Given the description of an element on the screen output the (x, y) to click on. 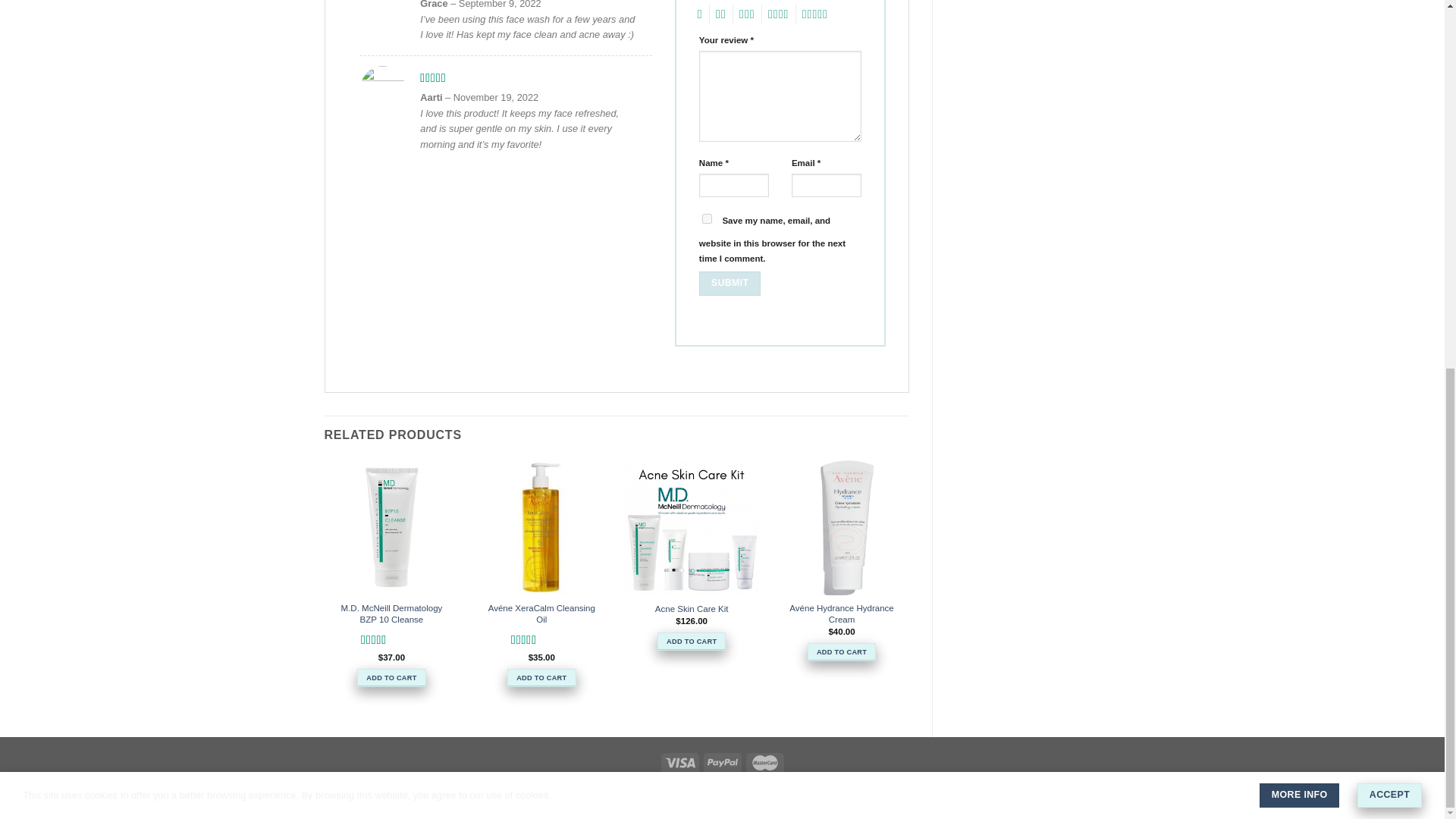
yes (706, 218)
Submit (729, 283)
